Given the description of an element on the screen output the (x, y) to click on. 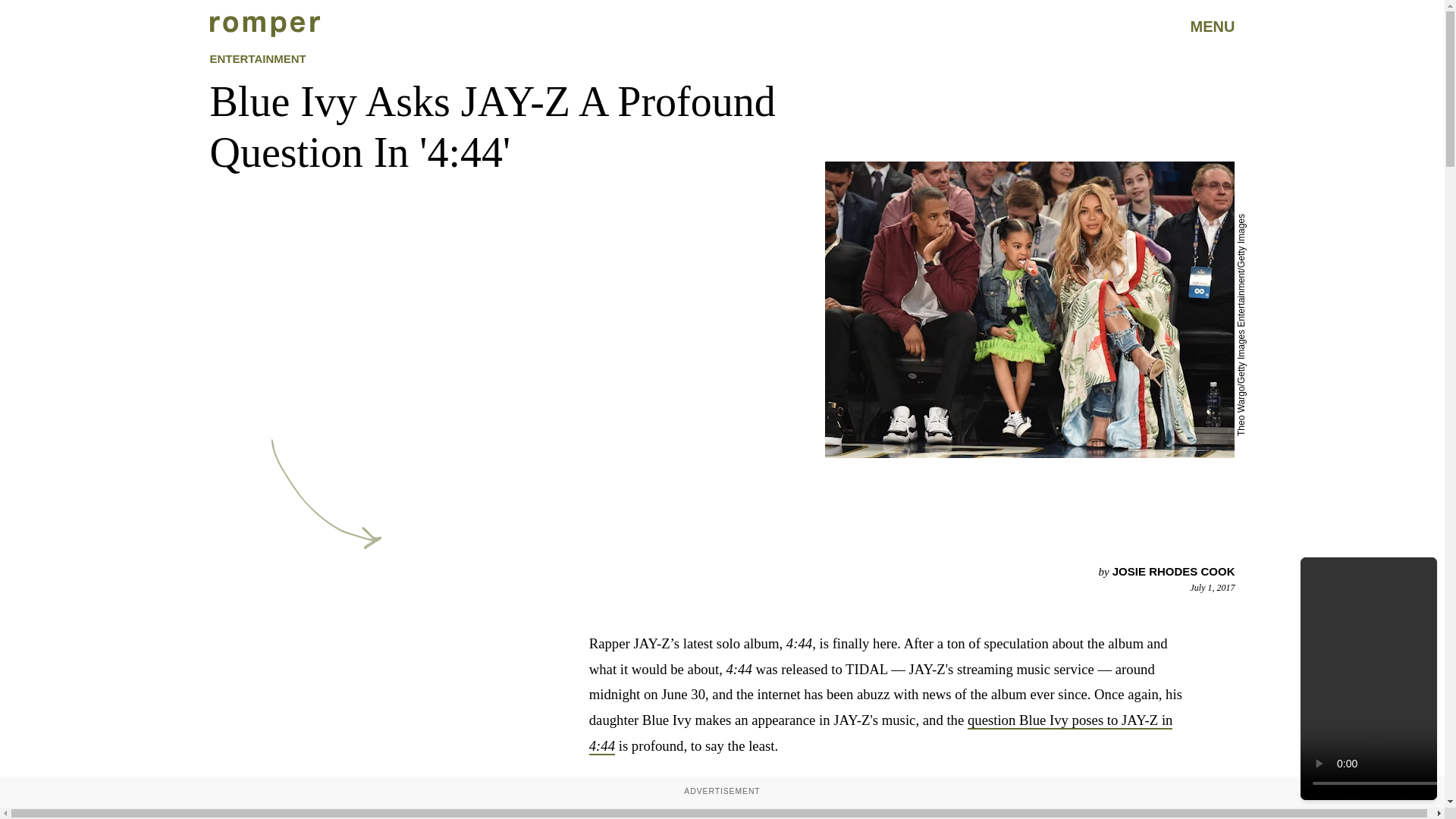
Romper (263, 26)
question Blue Ivy poses to JAY-Z in (1070, 720)
4:44 (601, 746)
